Given the description of an element on the screen output the (x, y) to click on. 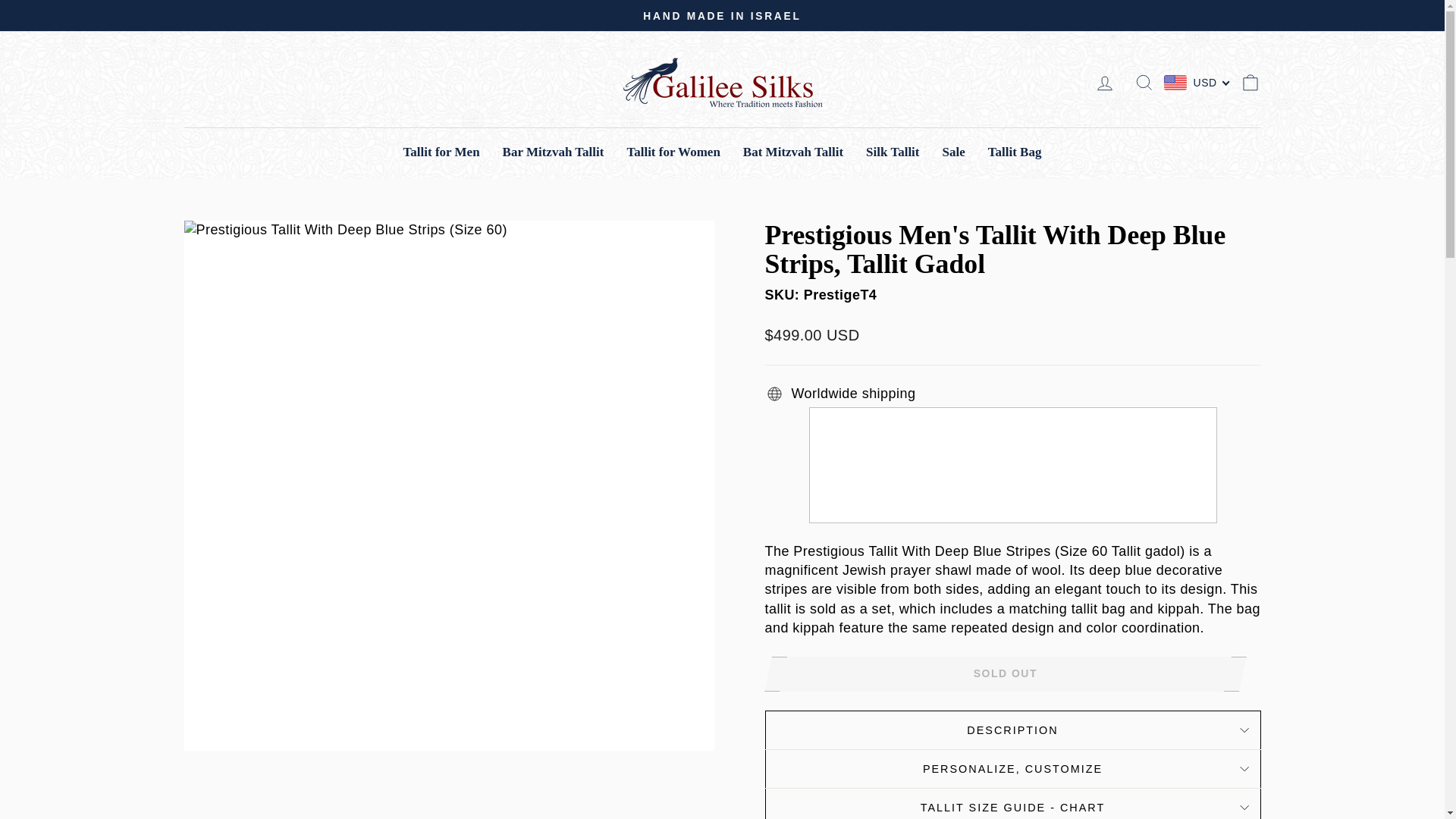
Search (1143, 82)
Sale (953, 151)
Tallit for Women (672, 151)
Silk Tallit (892, 151)
Bat Mitzvah Tallit (793, 151)
Bar Mitzvah Tallit (553, 151)
Cart (1249, 82)
Log in (1104, 82)
Tallit Bag (1014, 151)
Tallit for Men (441, 151)
